Given the description of an element on the screen output the (x, y) to click on. 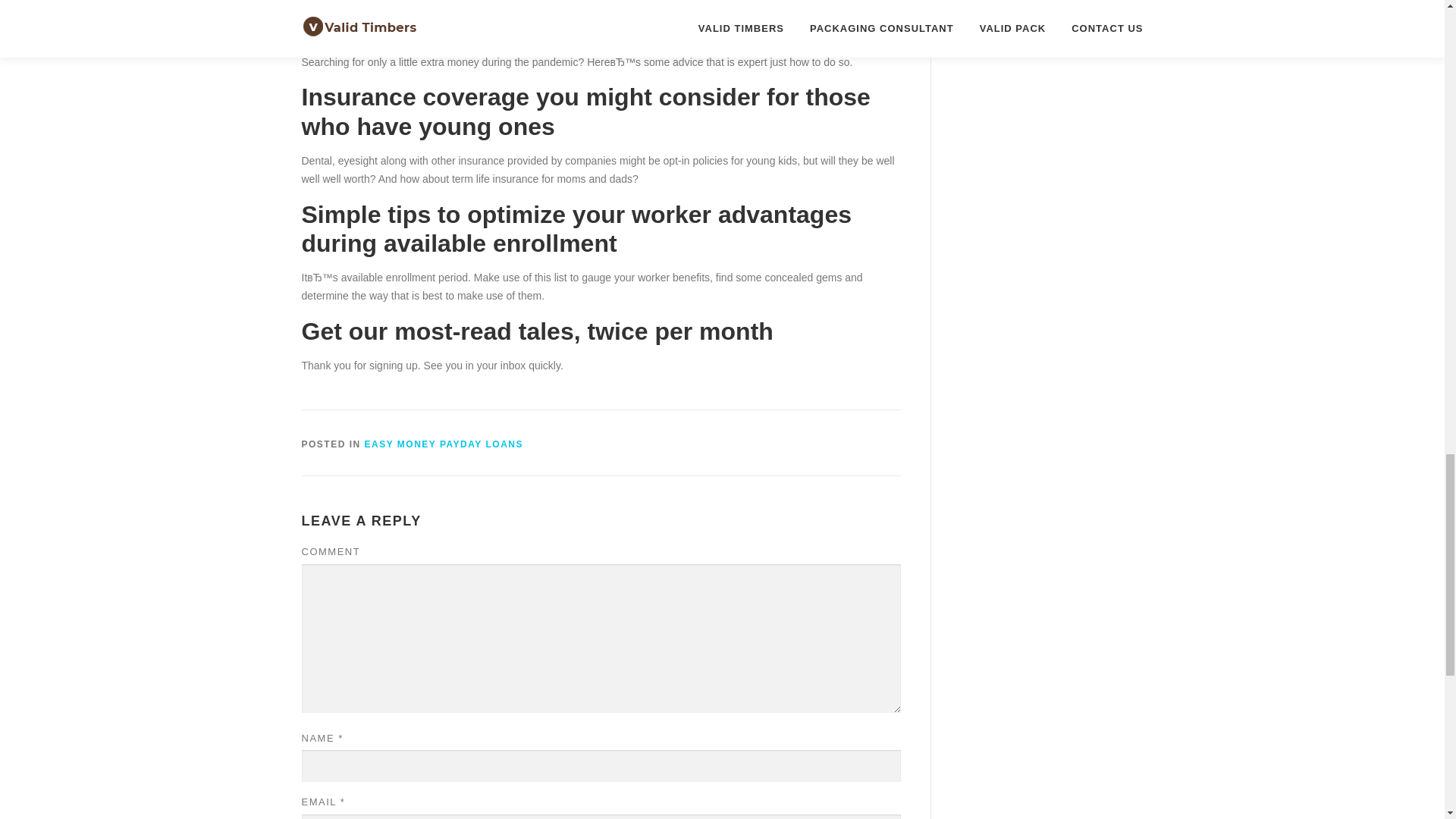
EASY MONEY PAYDAY LOANS (443, 443)
